Given the description of an element on the screen output the (x, y) to click on. 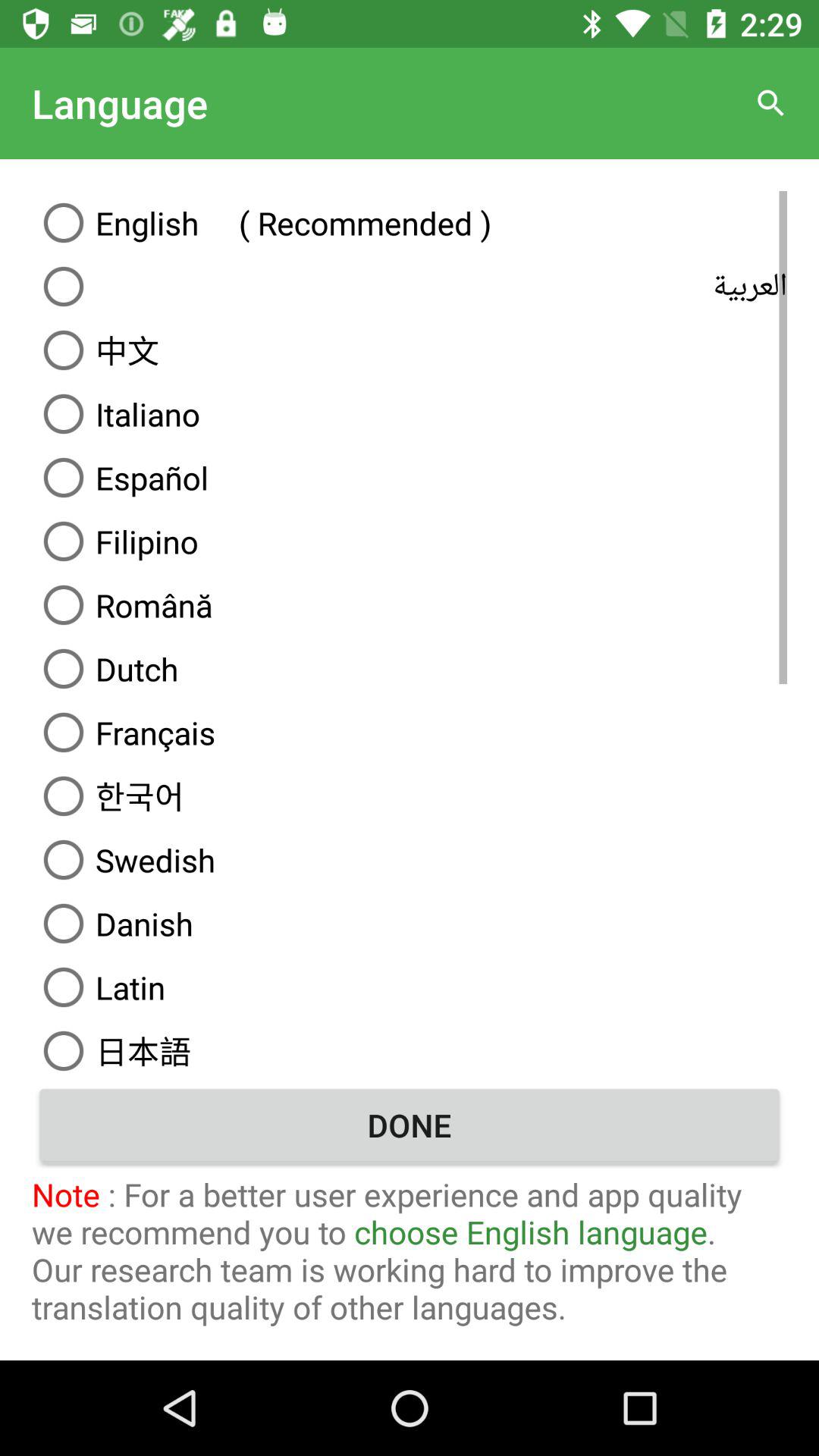
flip to swedish item (409, 859)
